Given the description of an element on the screen output the (x, y) to click on. 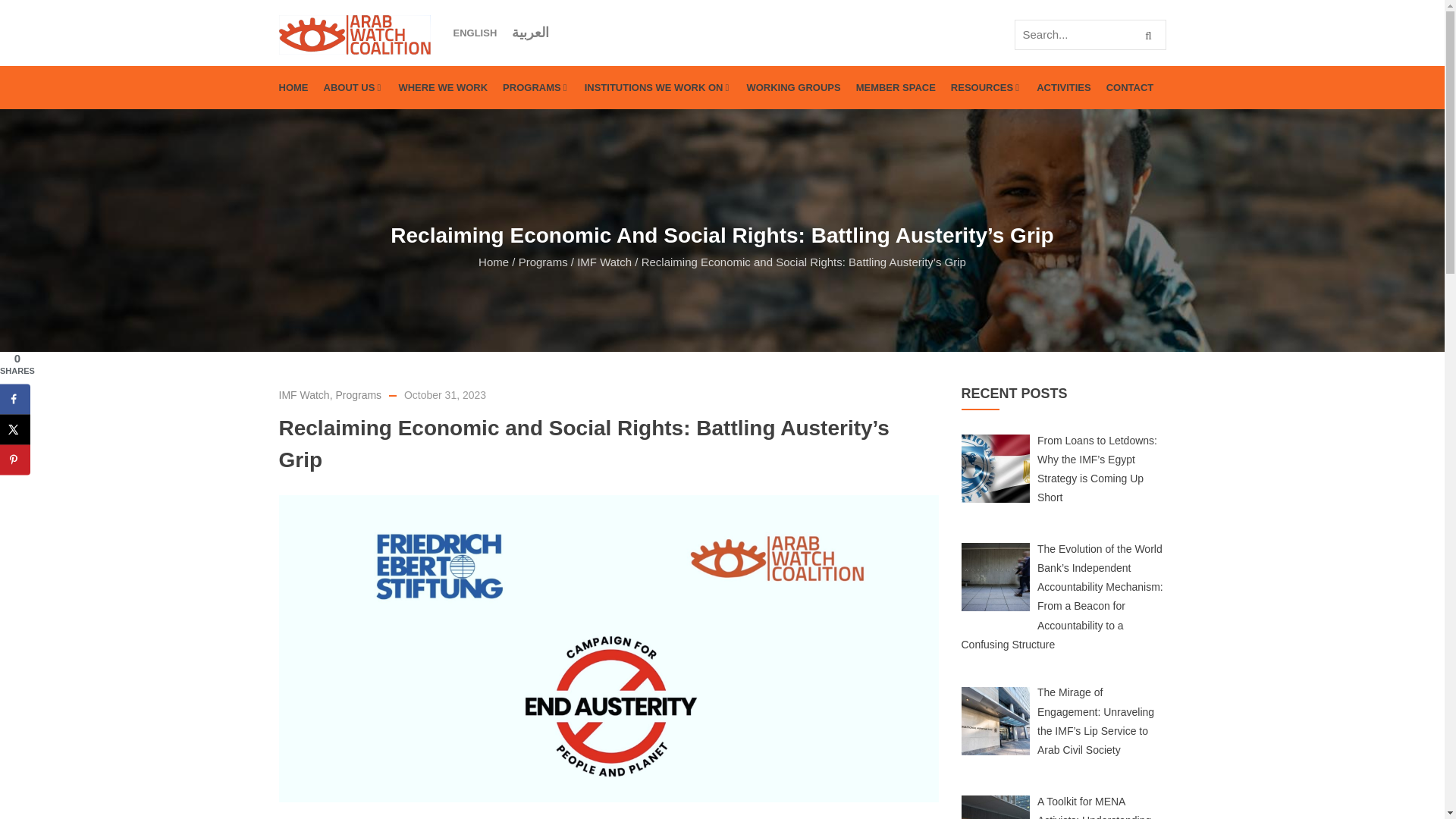
ENGLISH (475, 32)
Share on X (15, 429)
Save to Pinterest (15, 459)
Share on Facebook (15, 399)
ABOUT US (352, 87)
